Given the description of an element on the screen output the (x, y) to click on. 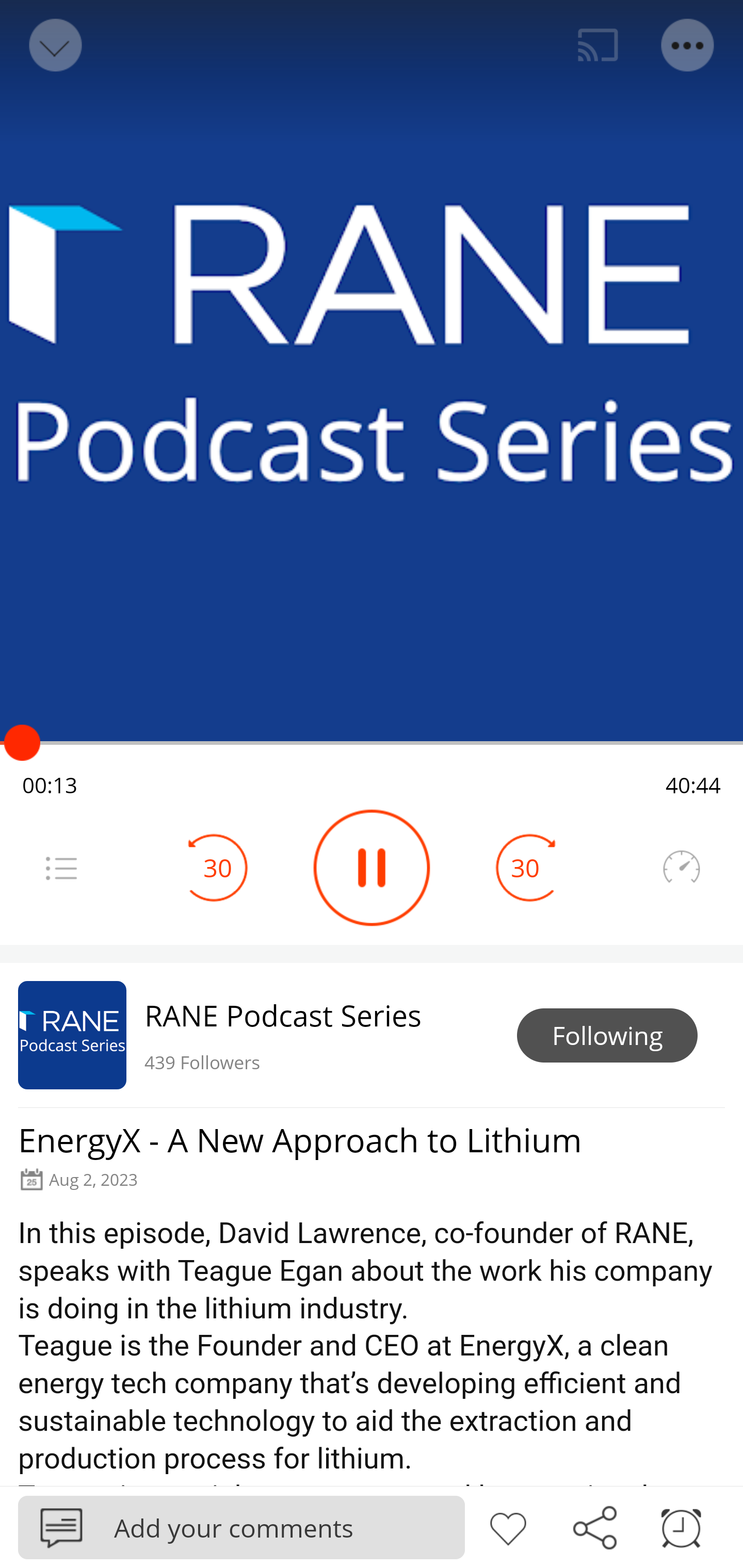
Back (53, 45)
Cast. Disconnected (597, 45)
Menu (688, 45)
Play (371, 867)
30 Seek Backward (217, 867)
30 Seek Forward (525, 867)
Menu (60, 867)
Speedometer (681, 867)
RANE Podcast Series 439 Followers Following (371, 1034)
Following (607, 1035)
Like (508, 1526)
Share (594, 1526)
Sleep timer (681, 1526)
Podbean Add your comments (241, 1526)
